Given the description of an element on the screen output the (x, y) to click on. 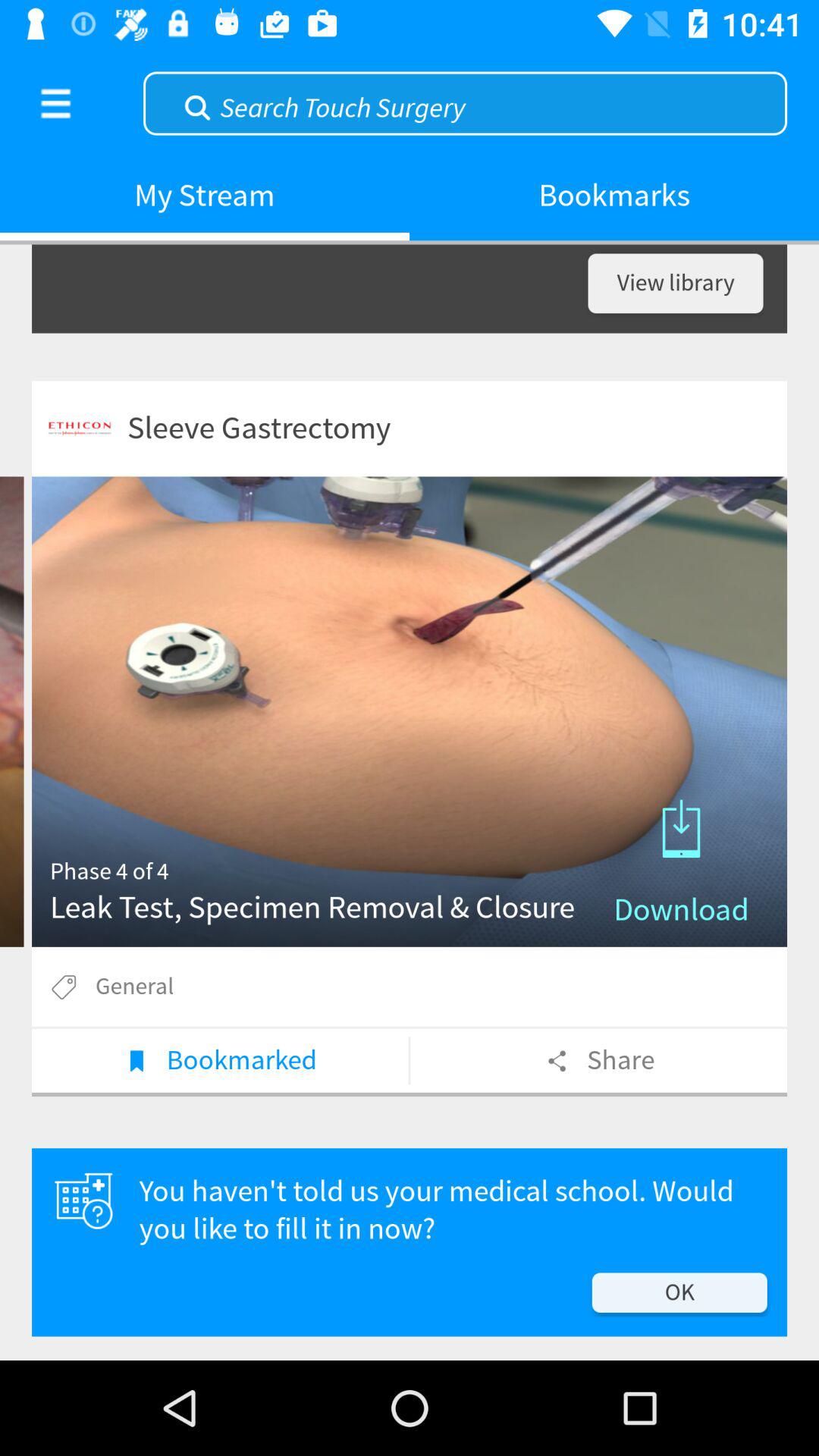
search the app (465, 102)
